Given the description of an element on the screen output the (x, y) to click on. 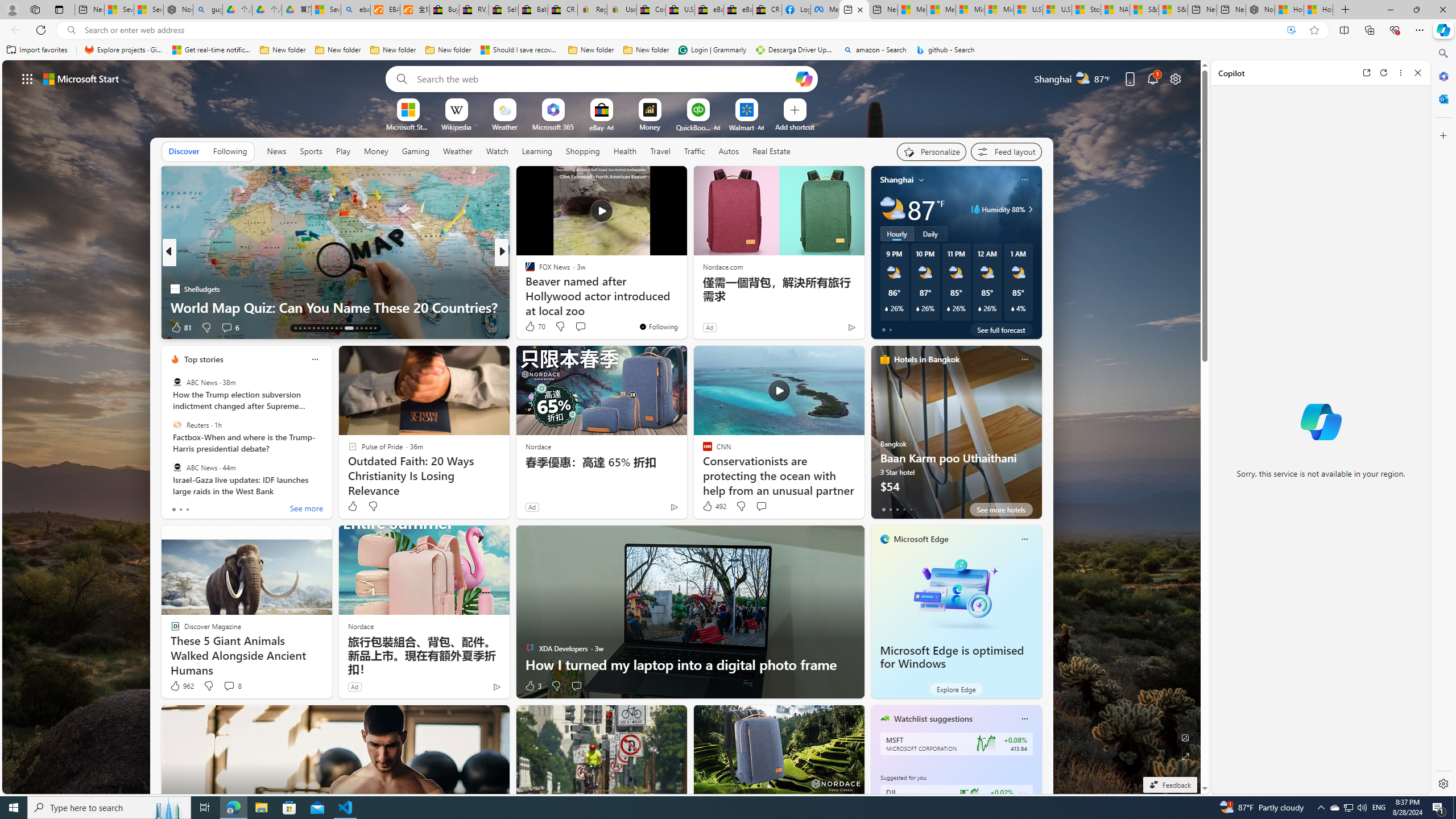
962 Like (181, 685)
AutomationID: tab-18 (317, 328)
Close tab (860, 9)
Real Estate (771, 151)
Autos (729, 151)
AutomationID: tab-21 (331, 328)
Meta Store (825, 9)
Class: weather-current-precipitation-glyph (1012, 308)
Collections (1369, 29)
View comments 6 Comment (229, 327)
AutomationID: tab-17 (313, 328)
